Given the description of an element on the screen output the (x, y) to click on. 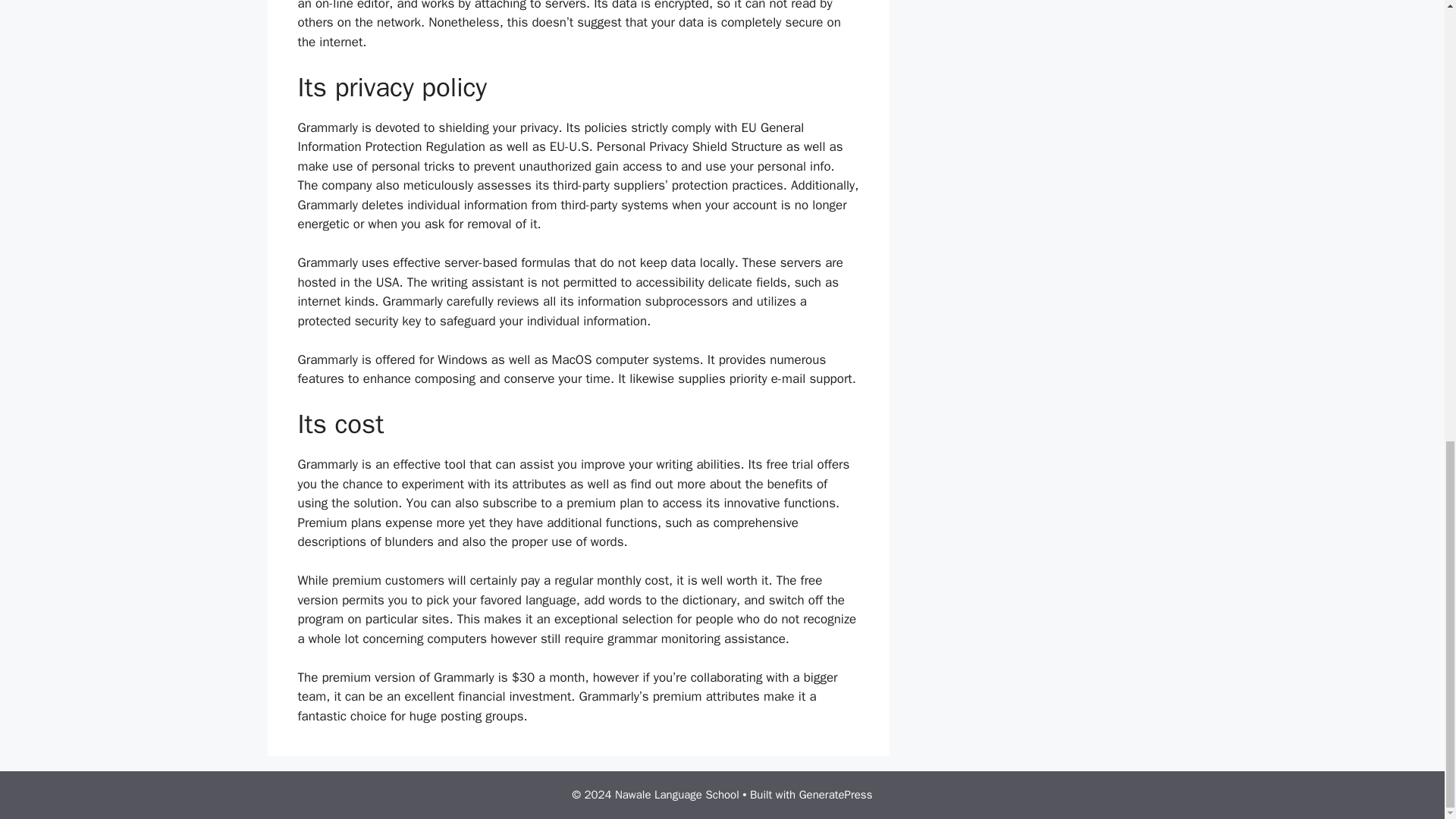
GeneratePress (835, 794)
